Given the description of an element on the screen output the (x, y) to click on. 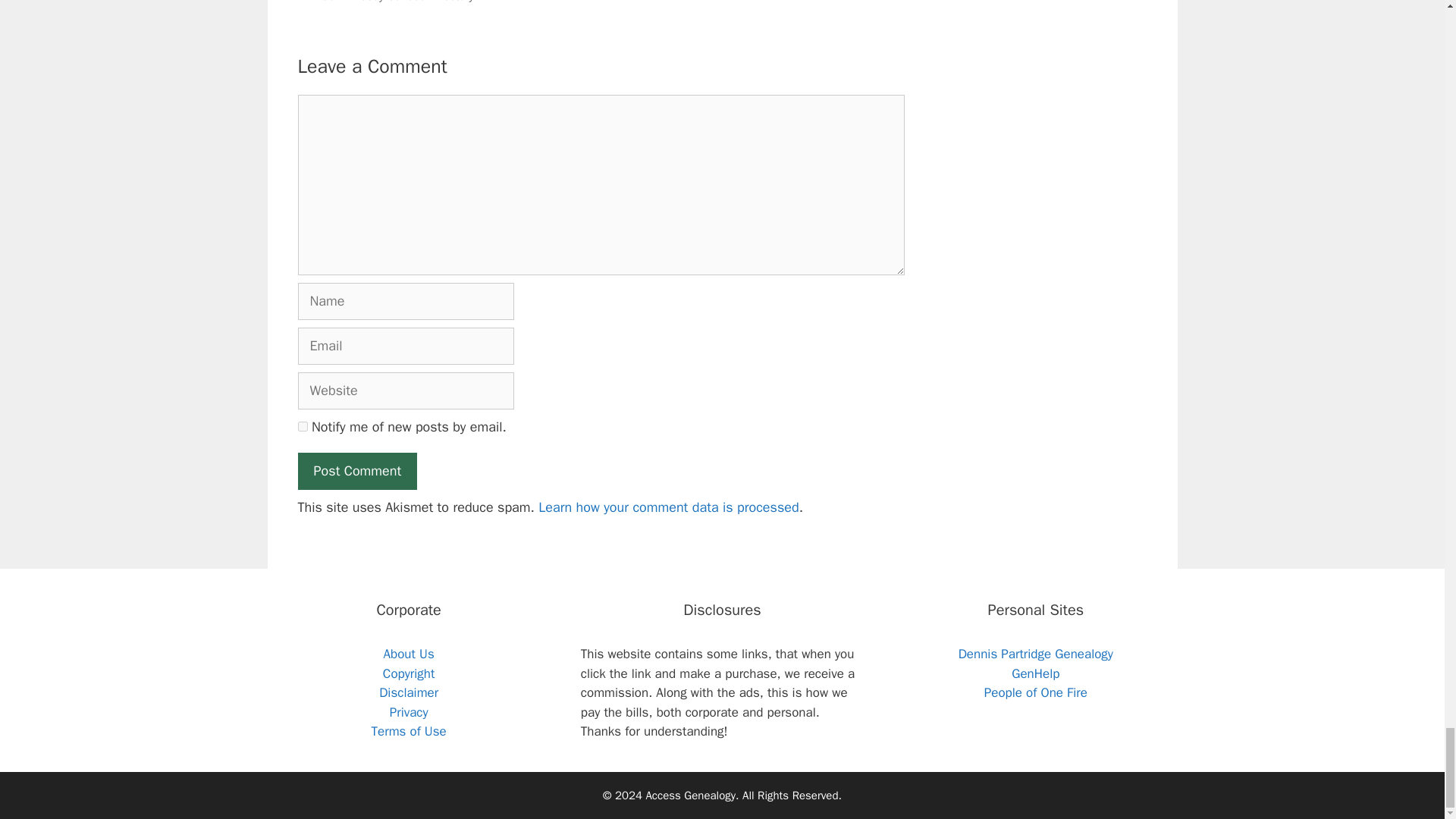
Post Comment (356, 470)
Post Comment (356, 470)
subscribe (302, 426)
Learn how your comment data is processed (667, 506)
1851 Lindsay Canada Directory (394, 2)
